Given the description of an element on the screen output the (x, y) to click on. 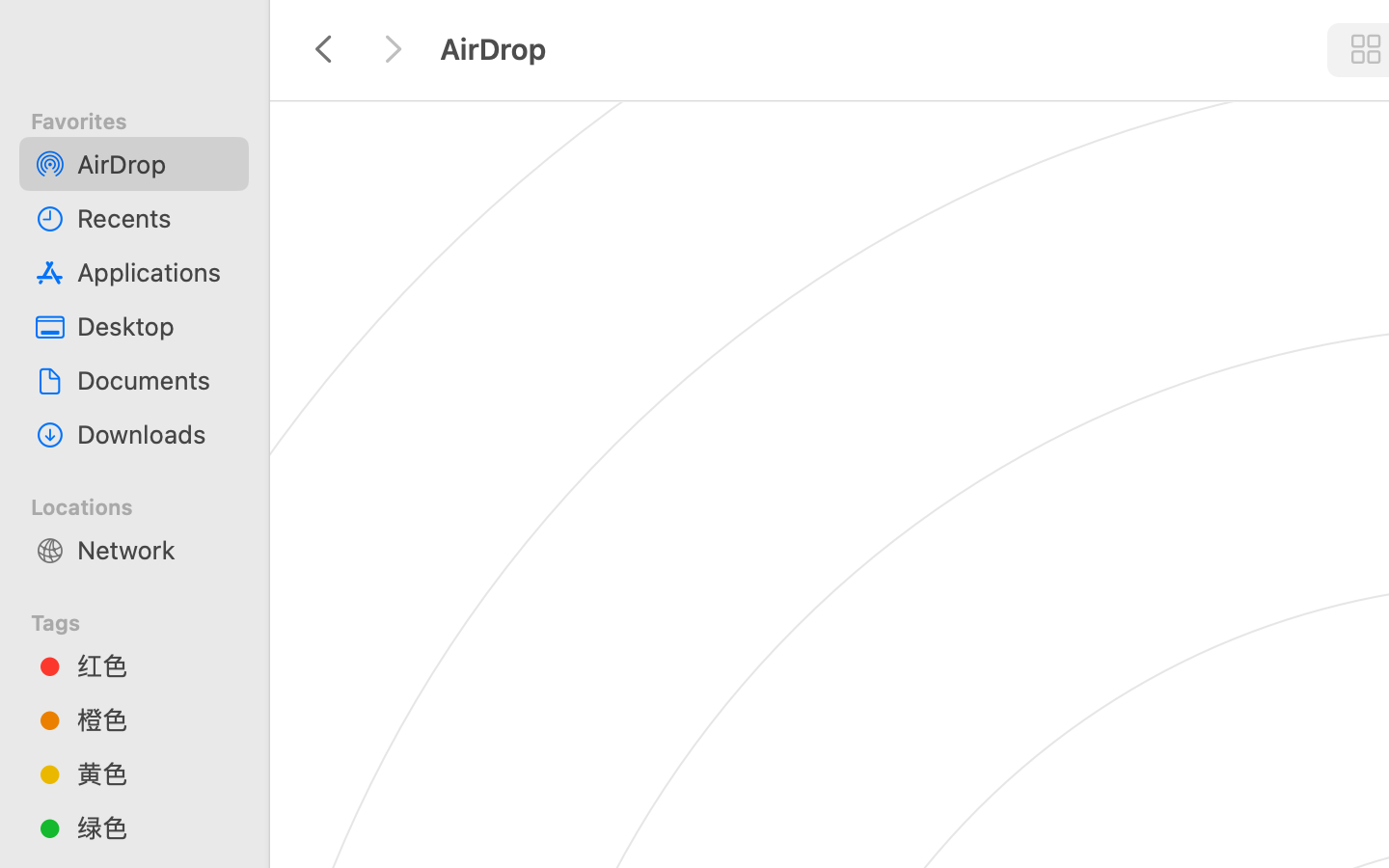
Tags Element type: AXStaticText (145, 619)
Recents Element type: AXStaticText (155, 217)
AirDrop Element type: AXStaticText (155, 163)
绿色 Element type: AXStaticText (155, 827)
橙色 Element type: AXStaticText (155, 719)
